Given the description of an element on the screen output the (x, y) to click on. 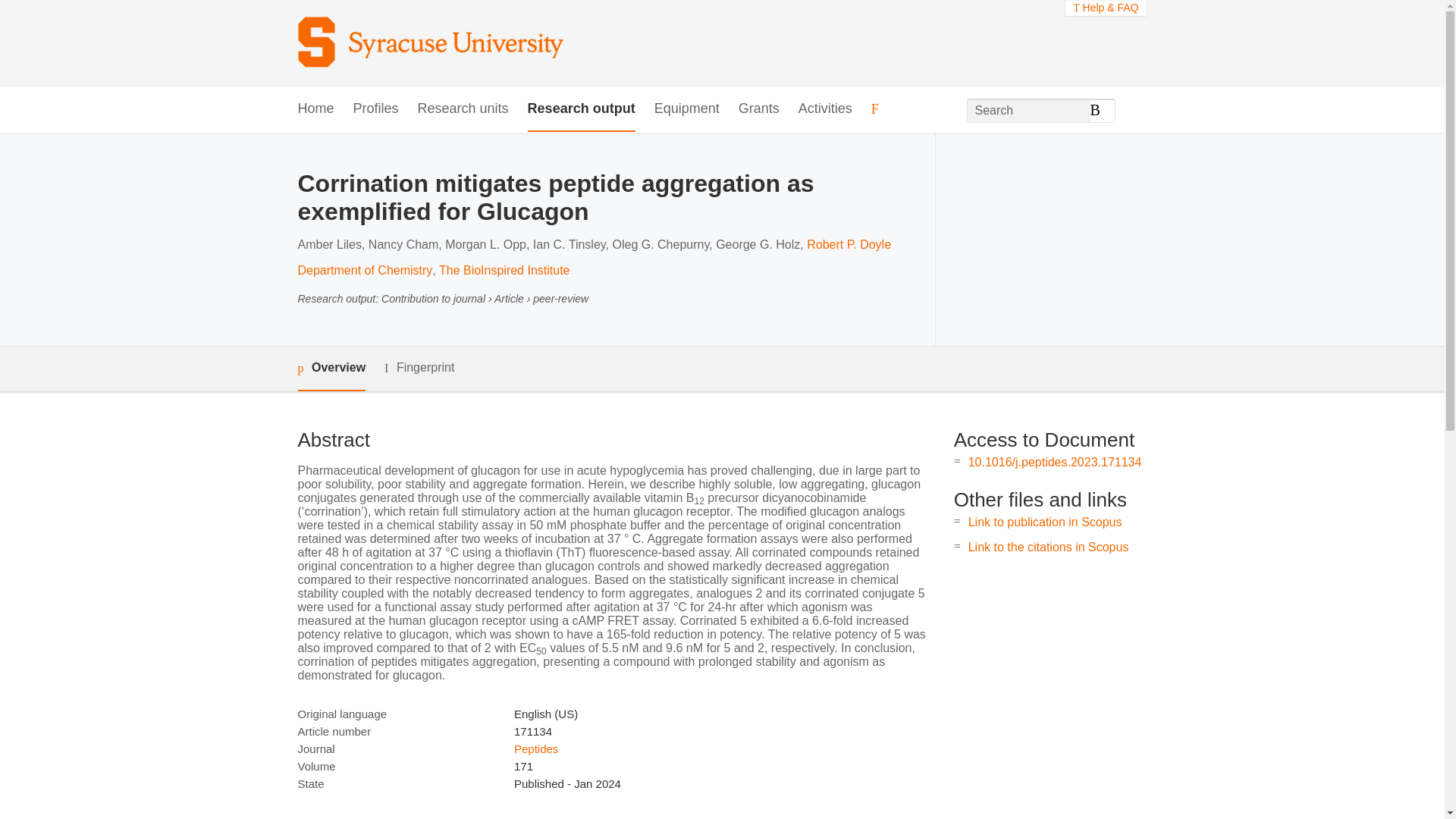
Grants (758, 108)
Fingerprint (419, 367)
Research output (580, 108)
Robert P. Doyle (848, 244)
Profiles (375, 108)
Equipment (686, 108)
The BioInspired Institute (504, 269)
Overview (331, 368)
Department of Chemistry (364, 269)
Activities (824, 108)
Link to the citations in Scopus (1048, 546)
Peptides (535, 748)
Research units (462, 108)
Link to publication in Scopus (1045, 521)
